Given the description of an element on the screen output the (x, y) to click on. 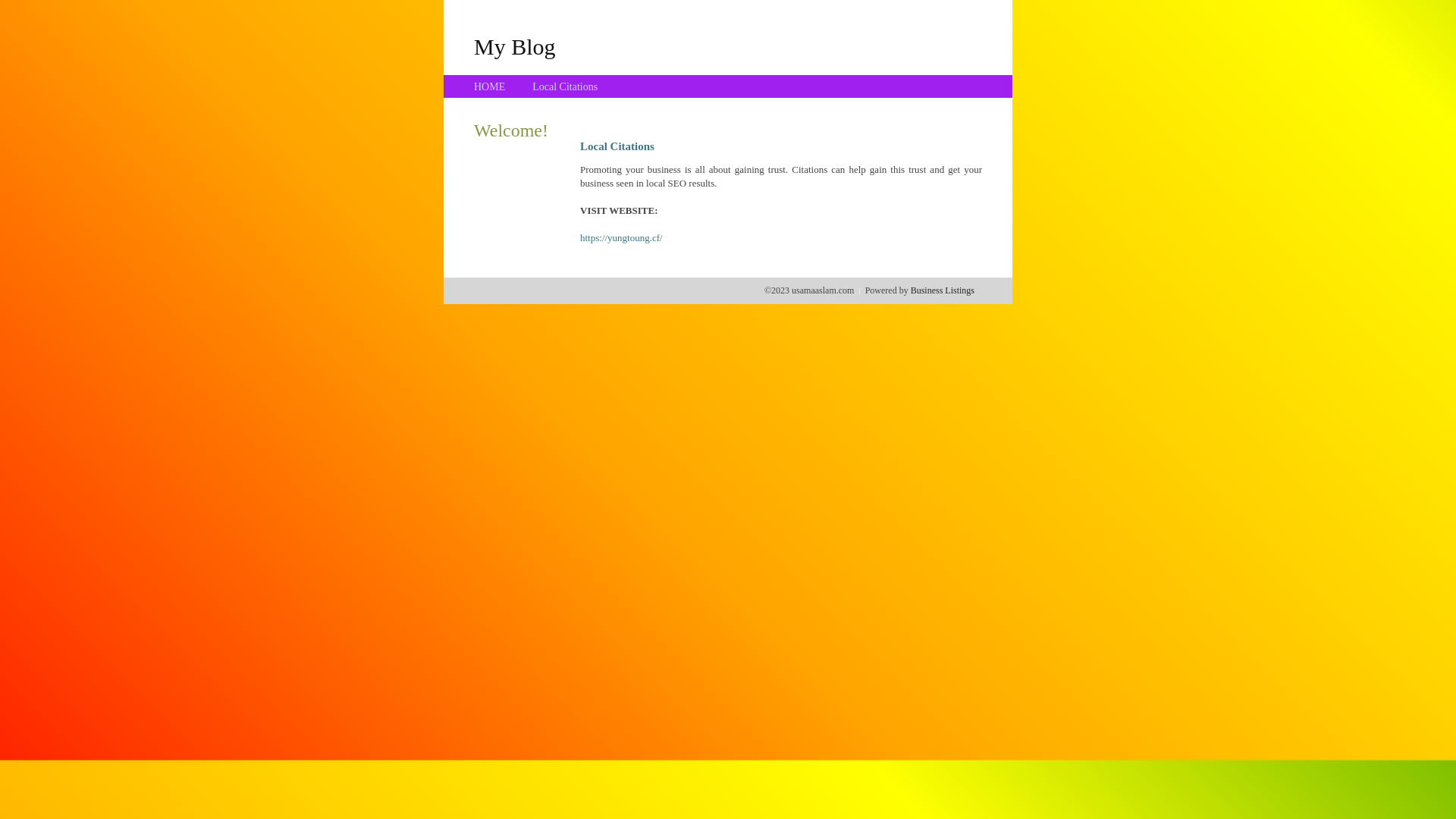
https://yungtoung.cf/ Element type: text (621, 237)
HOME Element type: text (489, 86)
My Blog Element type: text (514, 46)
Local Citations Element type: text (564, 86)
Business Listings Element type: text (942, 290)
